Given the description of an element on the screen output the (x, y) to click on. 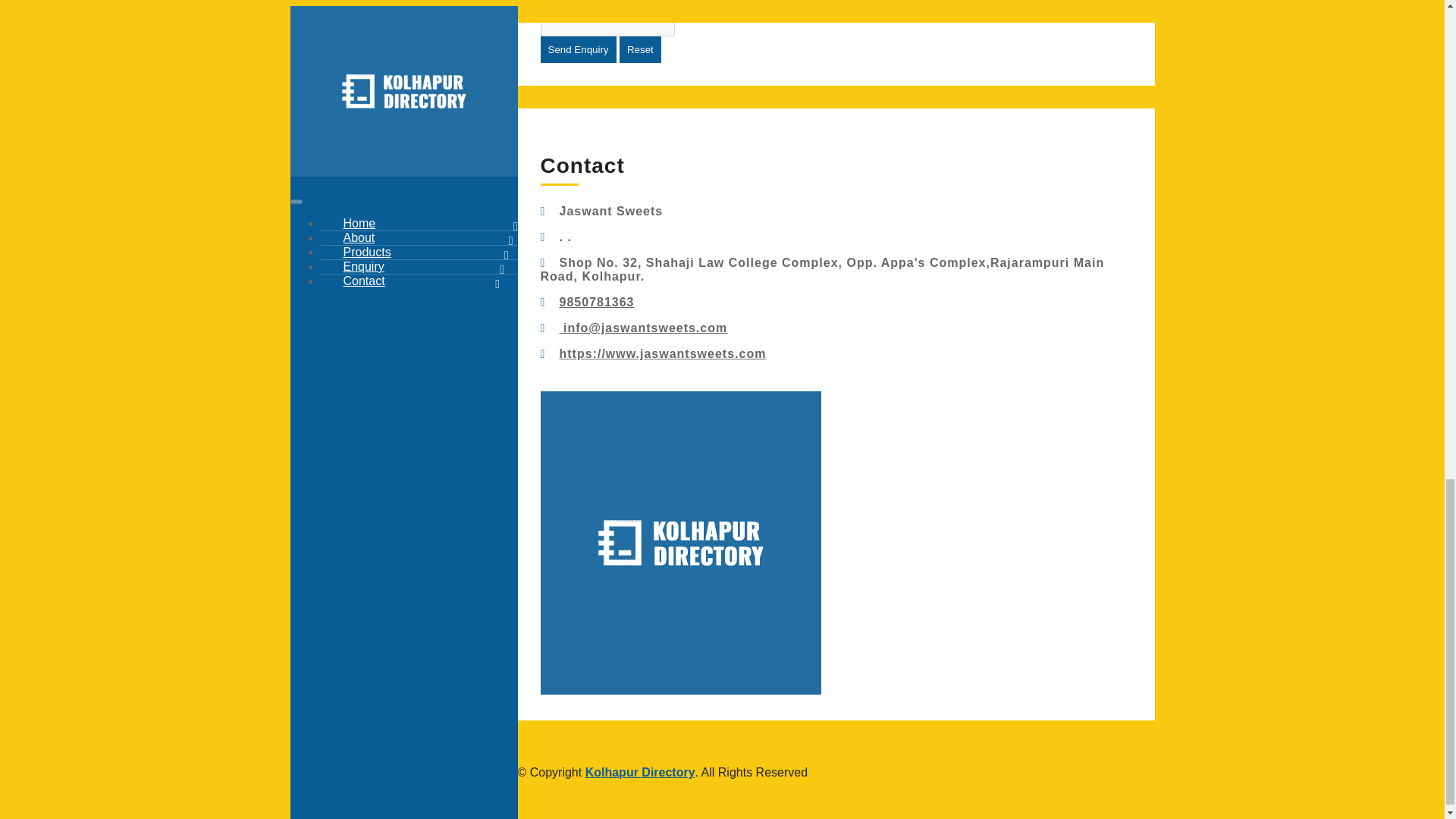
9850781363 (596, 301)
Reset (640, 49)
Kolhapur Directory (640, 771)
Send Enquiry (577, 49)
